Given the description of an element on the screen output the (x, y) to click on. 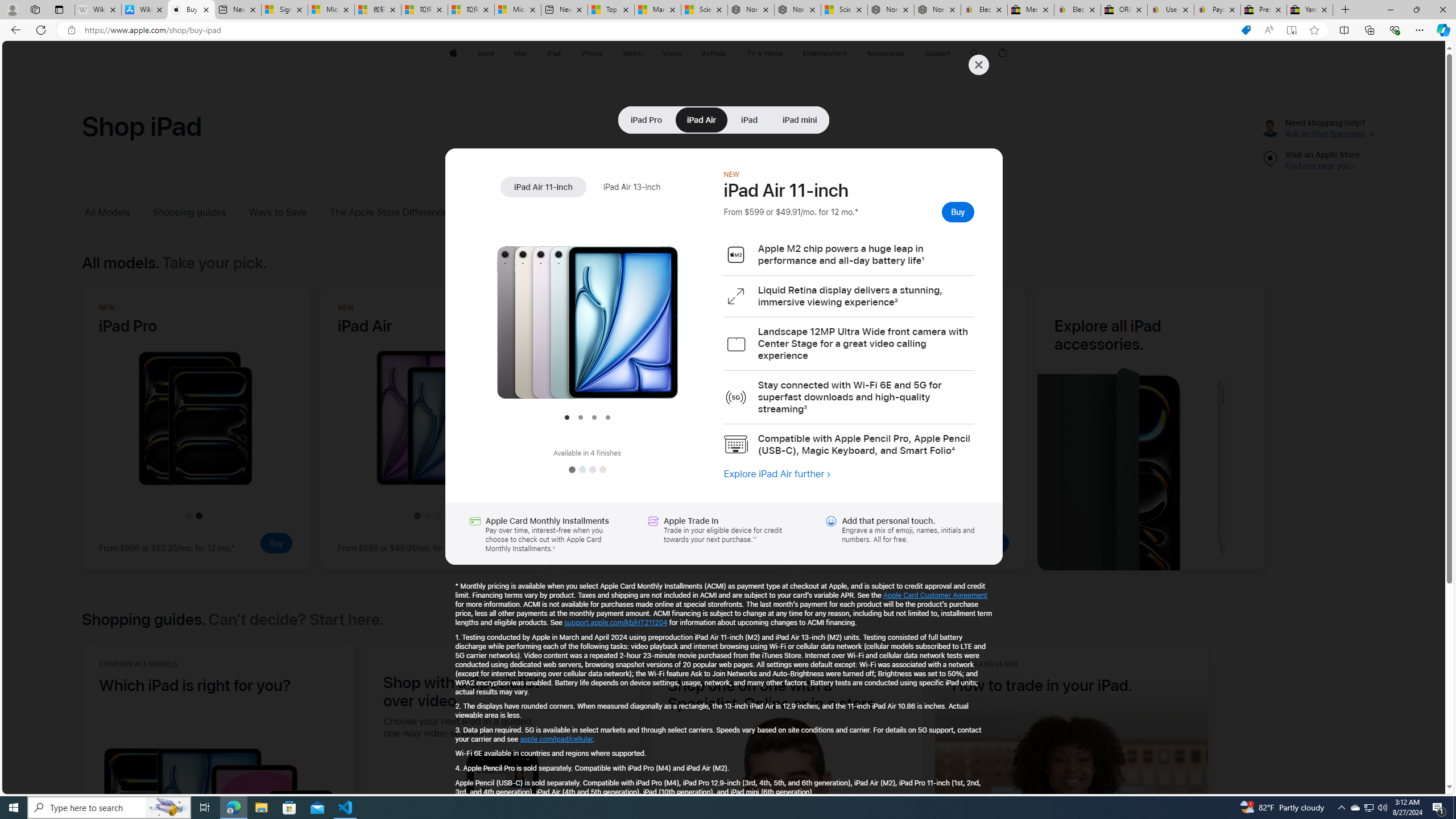
User Privacy Notice | eBay (1170, 9)
iPad (749, 119)
Blue (581, 469)
Marine life - MSN (656, 9)
Item 2 (580, 417)
Starlight (601, 469)
Microsoft account | Account Checkup (517, 9)
